Given the description of an element on the screen output the (x, y) to click on. 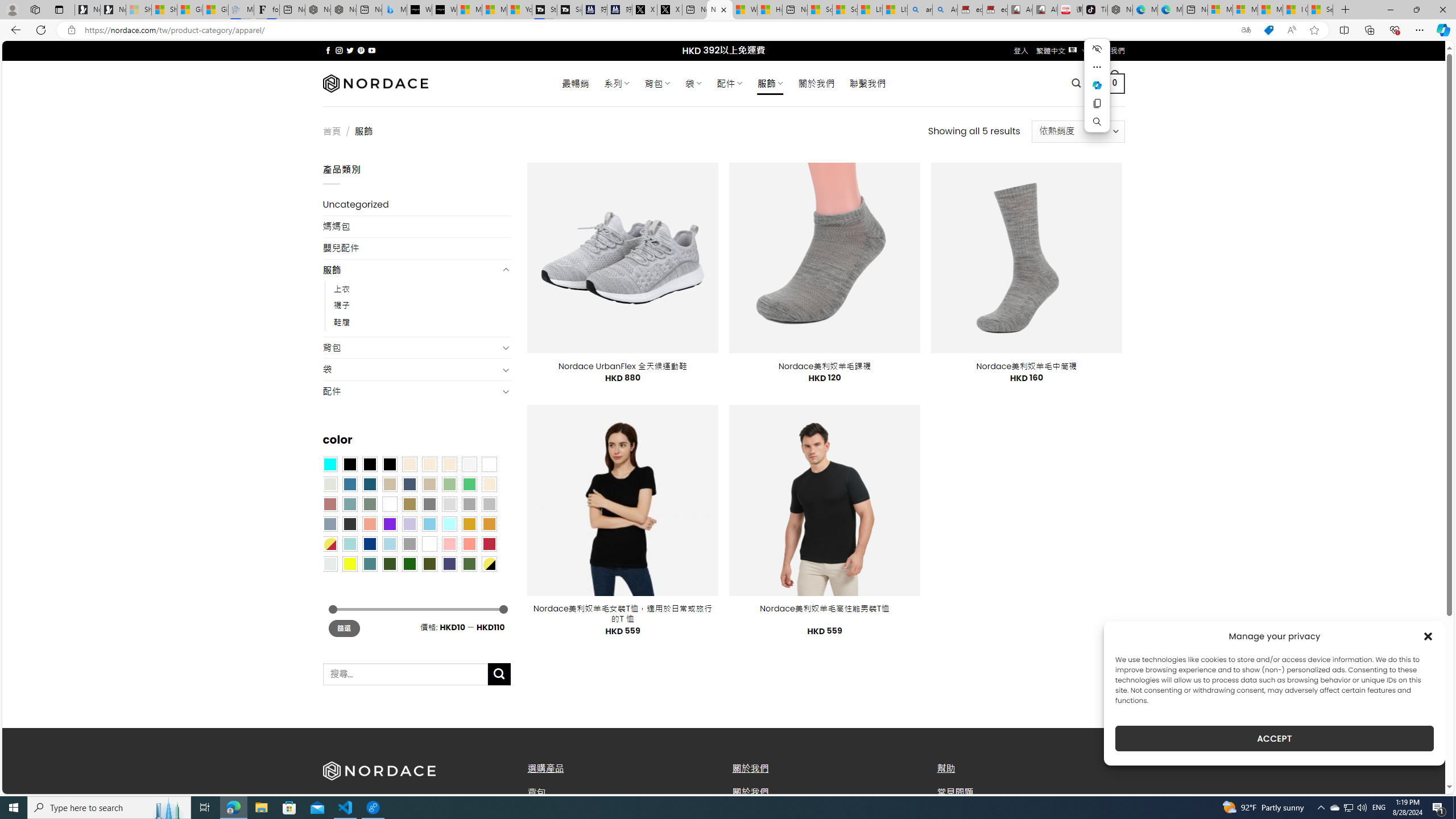
Ask Copilot (1096, 85)
This site has coupons! Shopping in Microsoft Edge (1268, 29)
Microsoft Start (1270, 9)
